Given the description of an element on the screen output the (x, y) to click on. 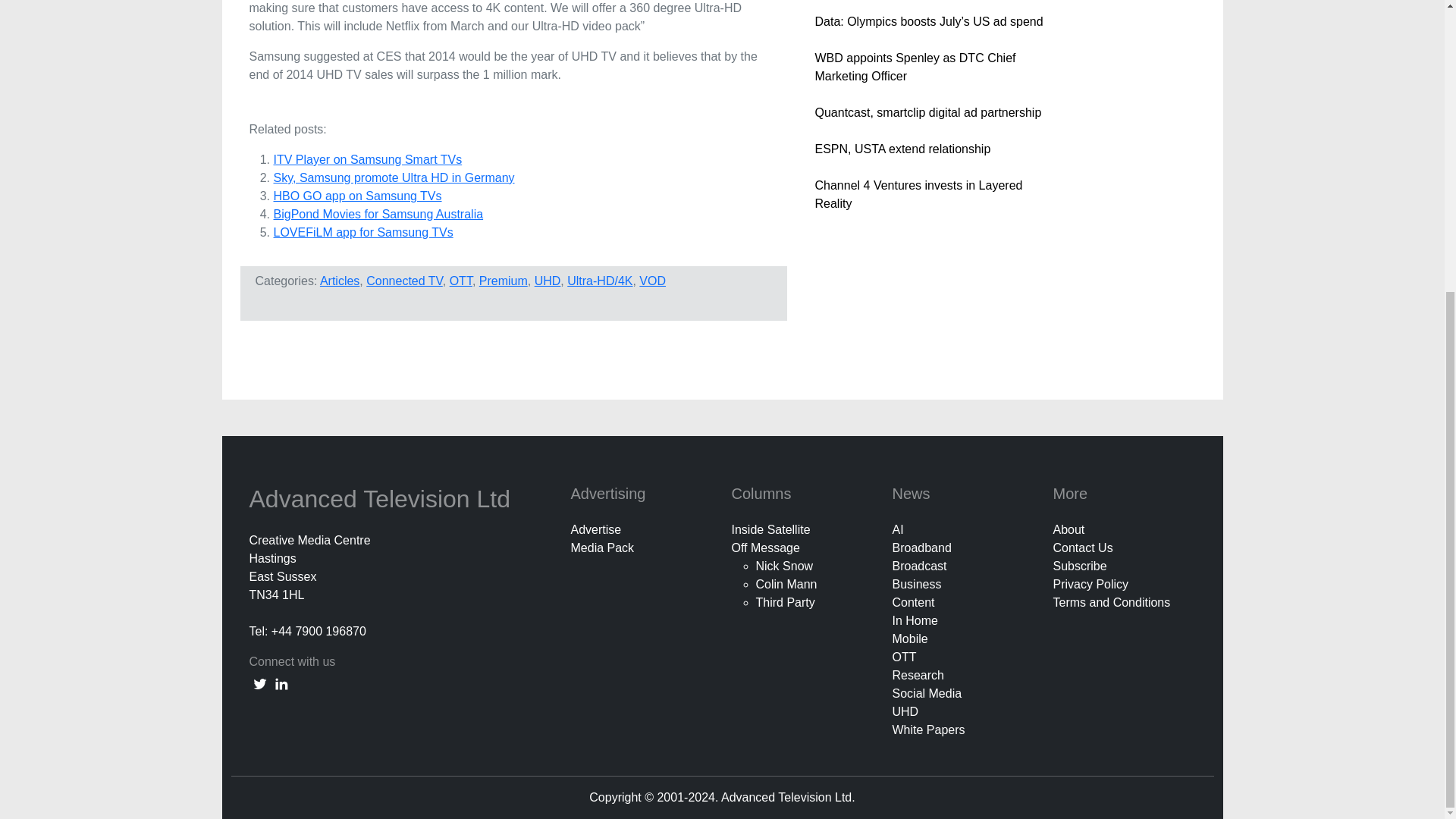
UHD (547, 280)
Quantcast, smartclip digital ad partnership (927, 112)
LOVEFiLM app for Samsung TVs (362, 232)
Channel 4 Ventures invests in Layered Reality (917, 194)
Sky, Samsung promote Ultra HD in Germany (393, 177)
Advanced Television Ltd  (382, 498)
HBO GO app on Samsung TVs (357, 195)
OTT (460, 280)
BigPond Movies for Samsung Australia (378, 214)
WBD appoints Spenley as DTC Chief Marketing Officer (913, 66)
